Given the description of an element on the screen output the (x, y) to click on. 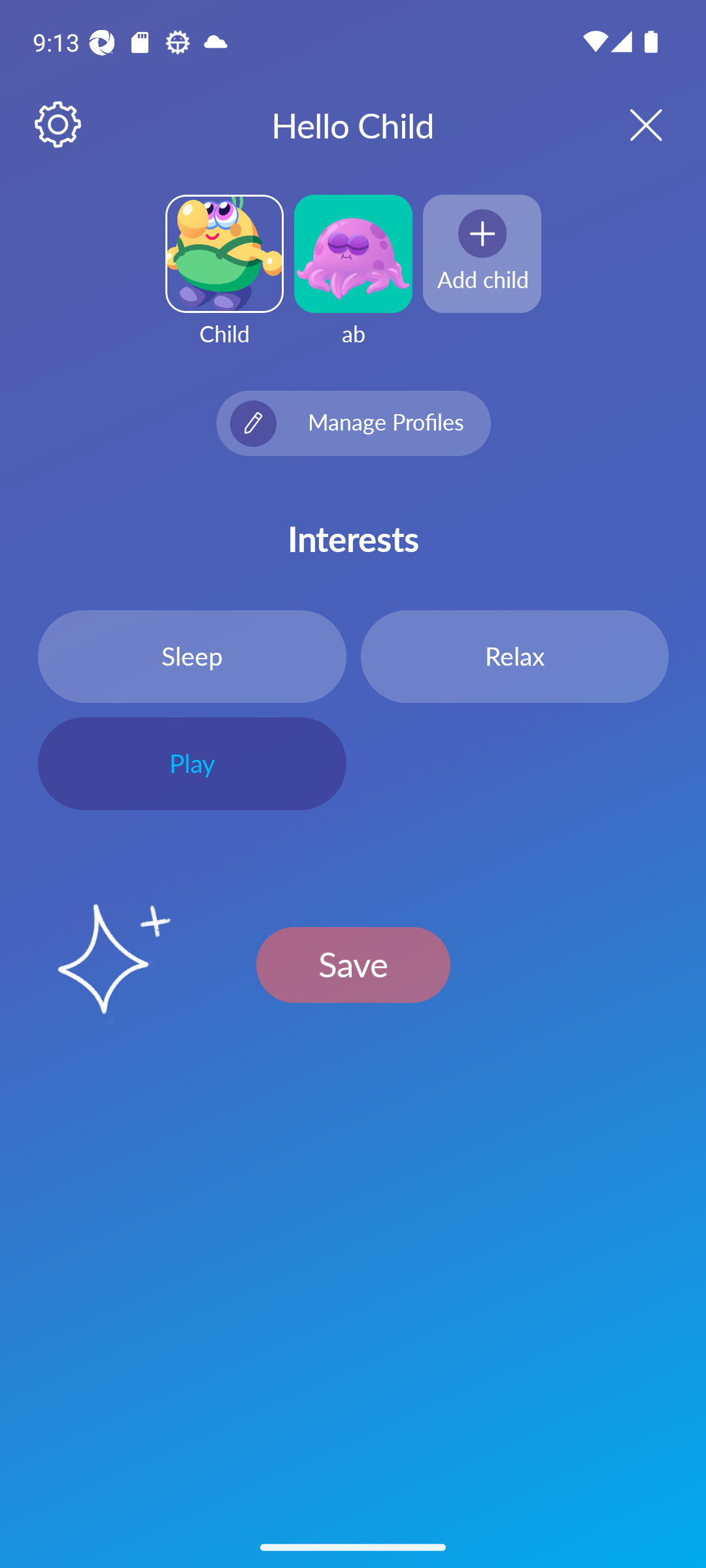
Close (629, 124)
Settings (58, 125)
Child (224, 282)
ab (353, 282)
Add child (481, 253)
icon Manage Profiles (353, 423)
Sleep (192, 655)
Relax (514, 655)
Play (192, 764)
Save (353, 964)
